Given the description of an element on the screen output the (x, y) to click on. 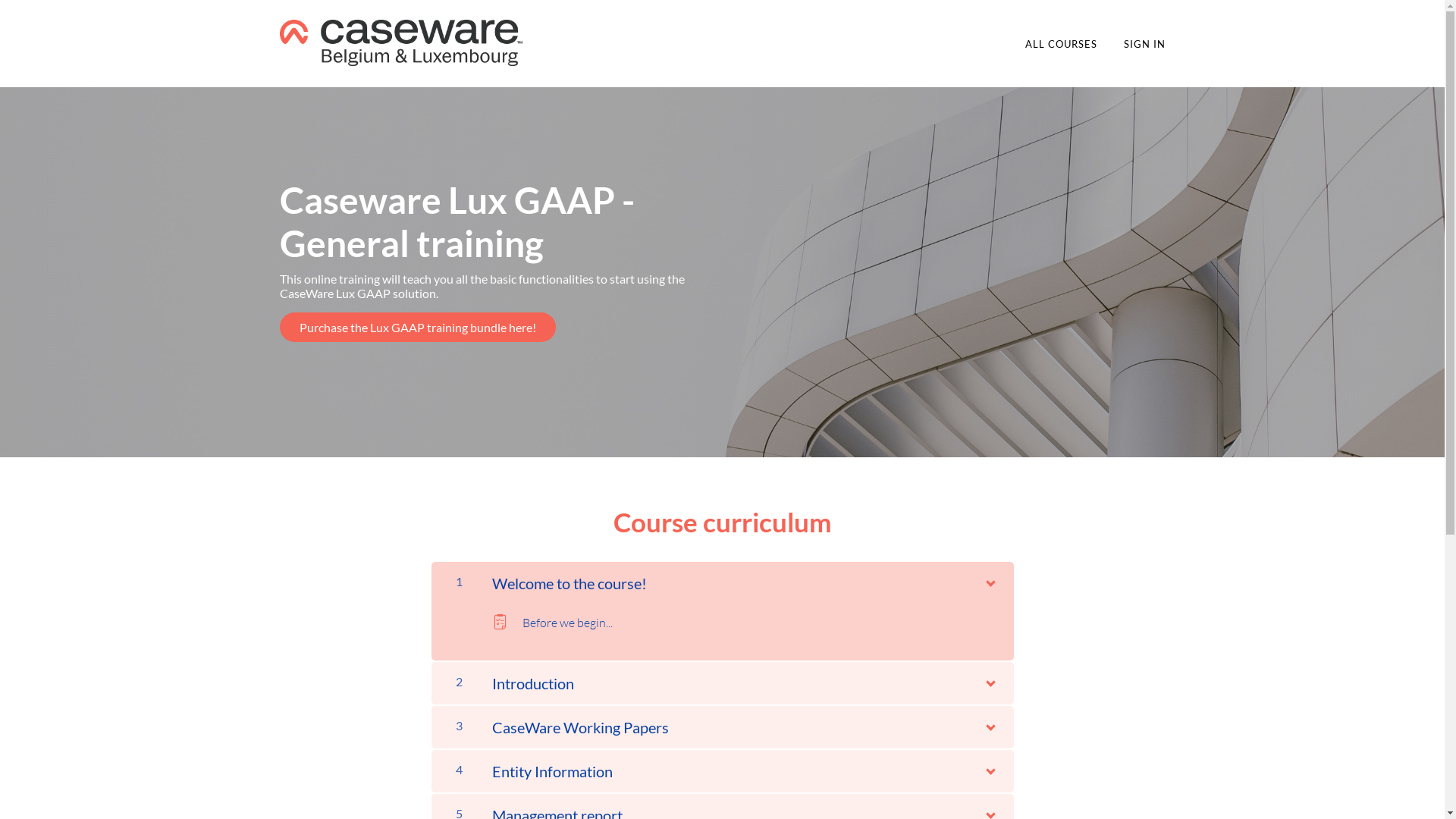
SIGN IN Element type: text (1144, 43)
Purchase the Lux GAAP training bundle here! Element type: text (417, 327)
ALL COURSES Element type: text (1061, 43)
Caseware BeLux Academy Element type: text (400, 42)
